Given the description of an element on the screen output the (x, y) to click on. 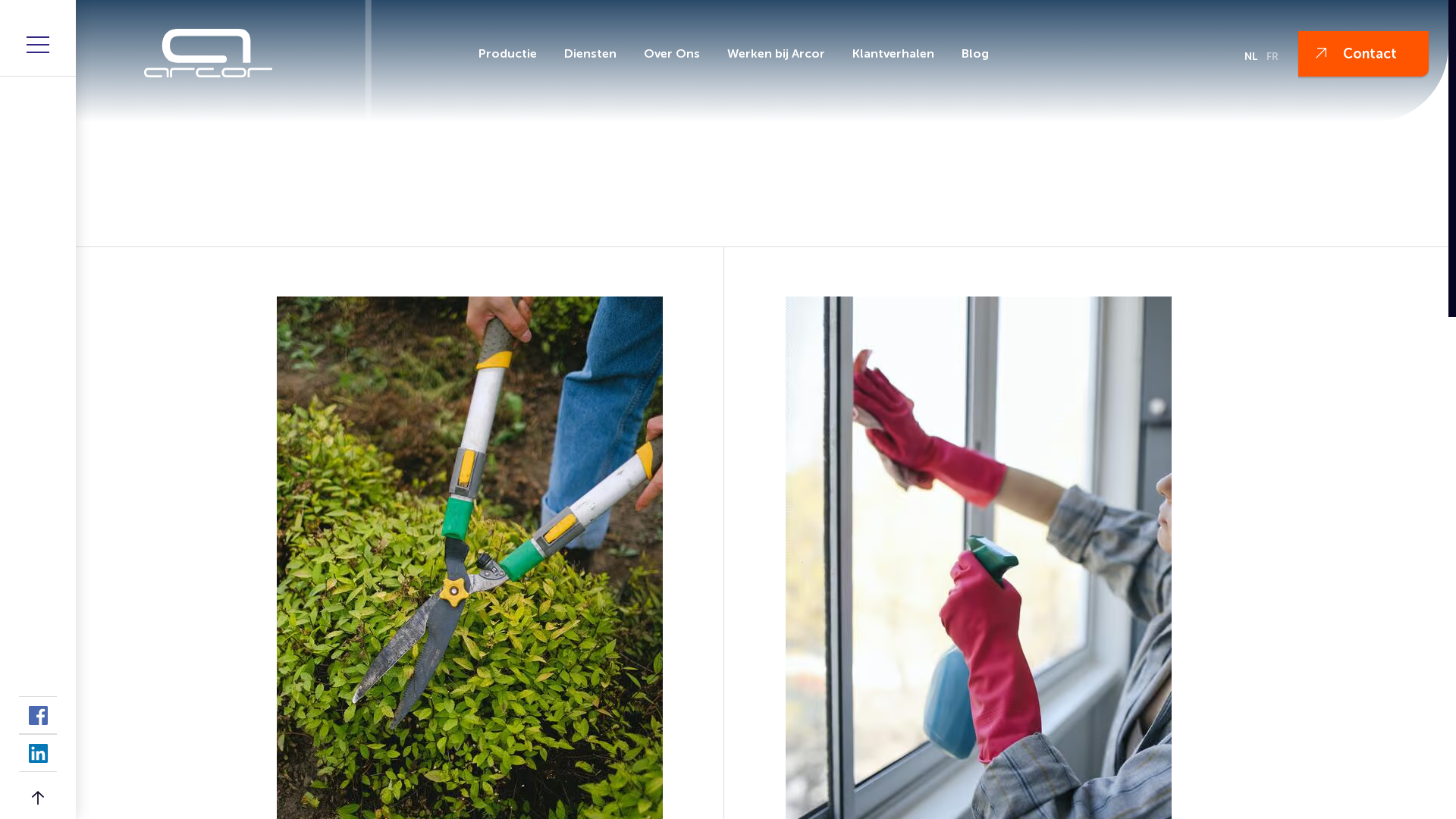
Diensten Element type: text (590, 53)
Blog Element type: text (974, 53)
Home Element type: text (304, 218)
Klantverhalen Element type: text (893, 53)
Productie Element type: text (507, 53)
FR Element type: text (1272, 56)
Contact Element type: text (1363, 53)
Werken bij Arcor Element type: text (776, 53)
Over Ons Element type: text (671, 53)
